Given the description of an element on the screen output the (x, y) to click on. 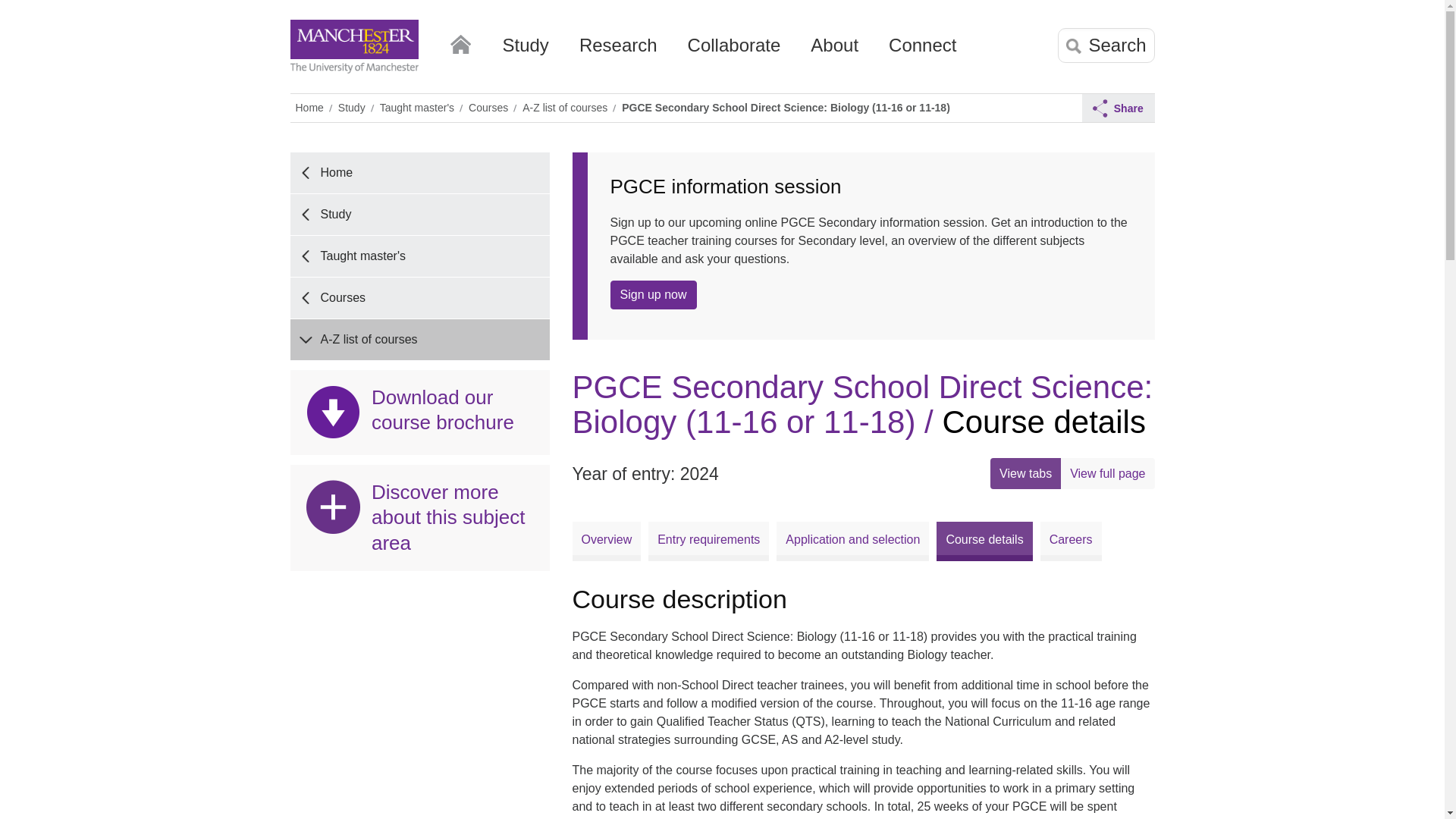
Study (524, 50)
Home (459, 41)
Research at the University (618, 50)
